Given the description of an element on the screen output the (x, y) to click on. 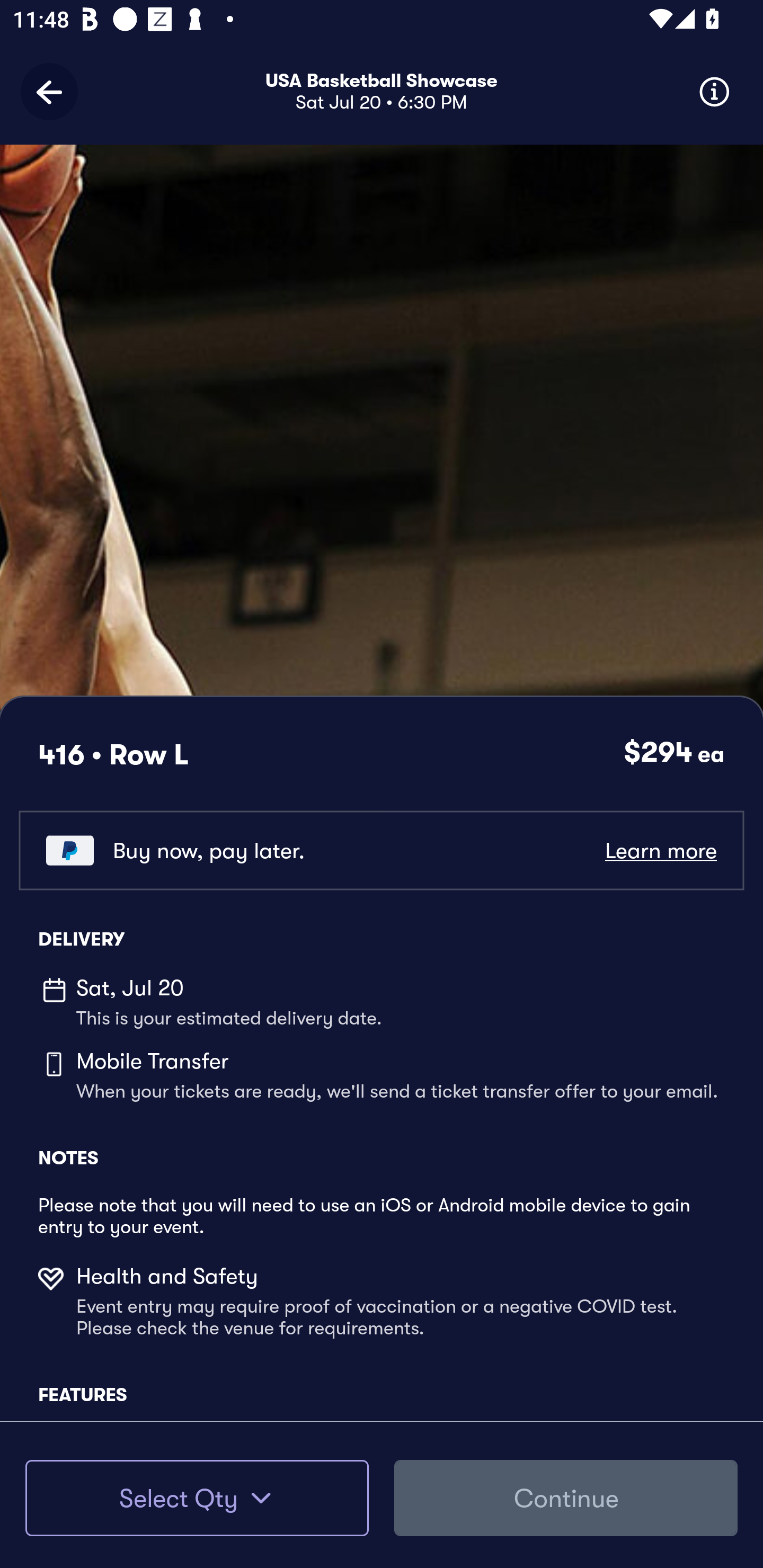
Learn more (660, 850)
Select Qty (196, 1497)
Continue (565, 1497)
